Given the description of an element on the screen output the (x, y) to click on. 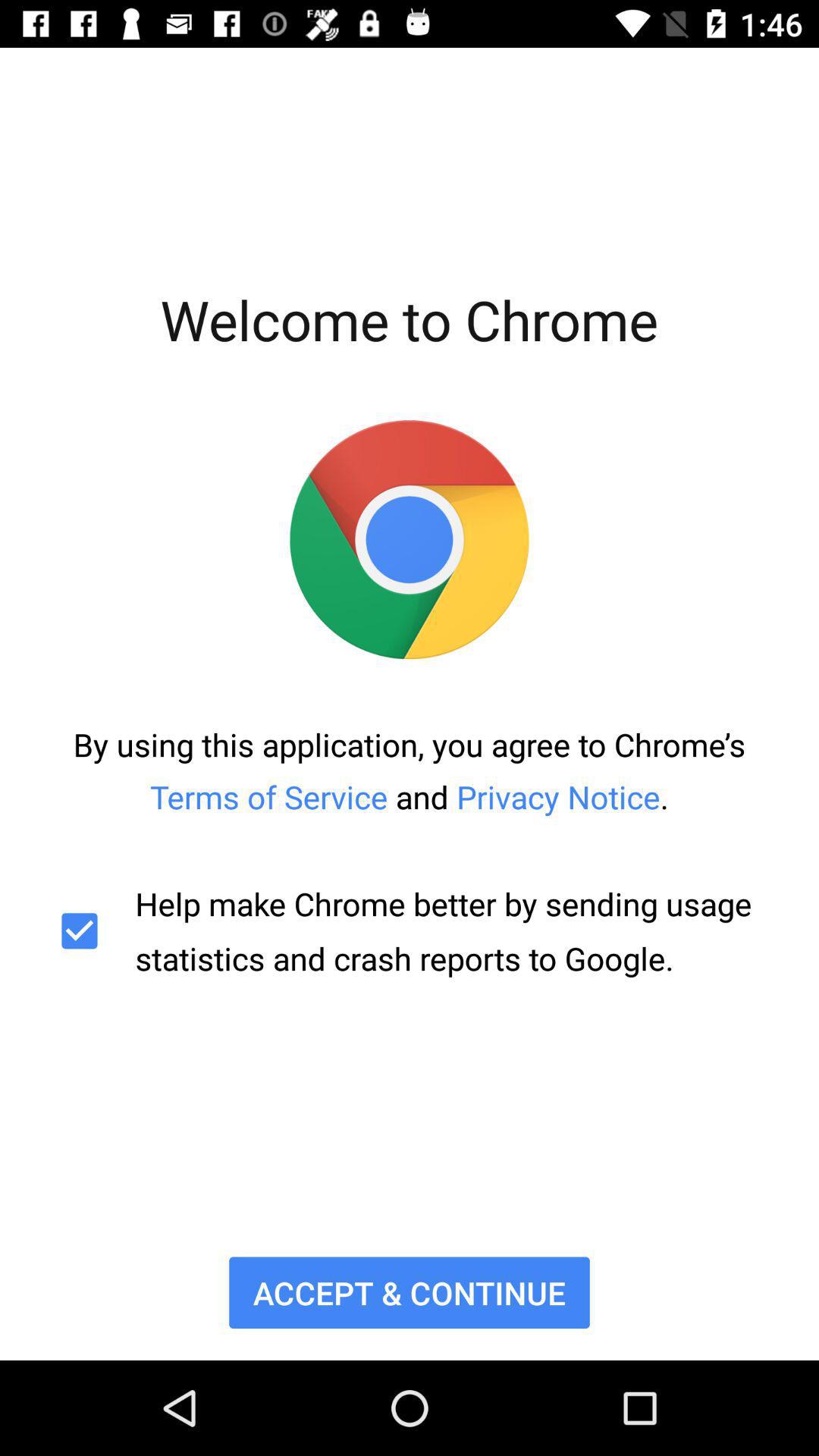
select the by using this item (409, 770)
